Given the description of an element on the screen output the (x, y) to click on. 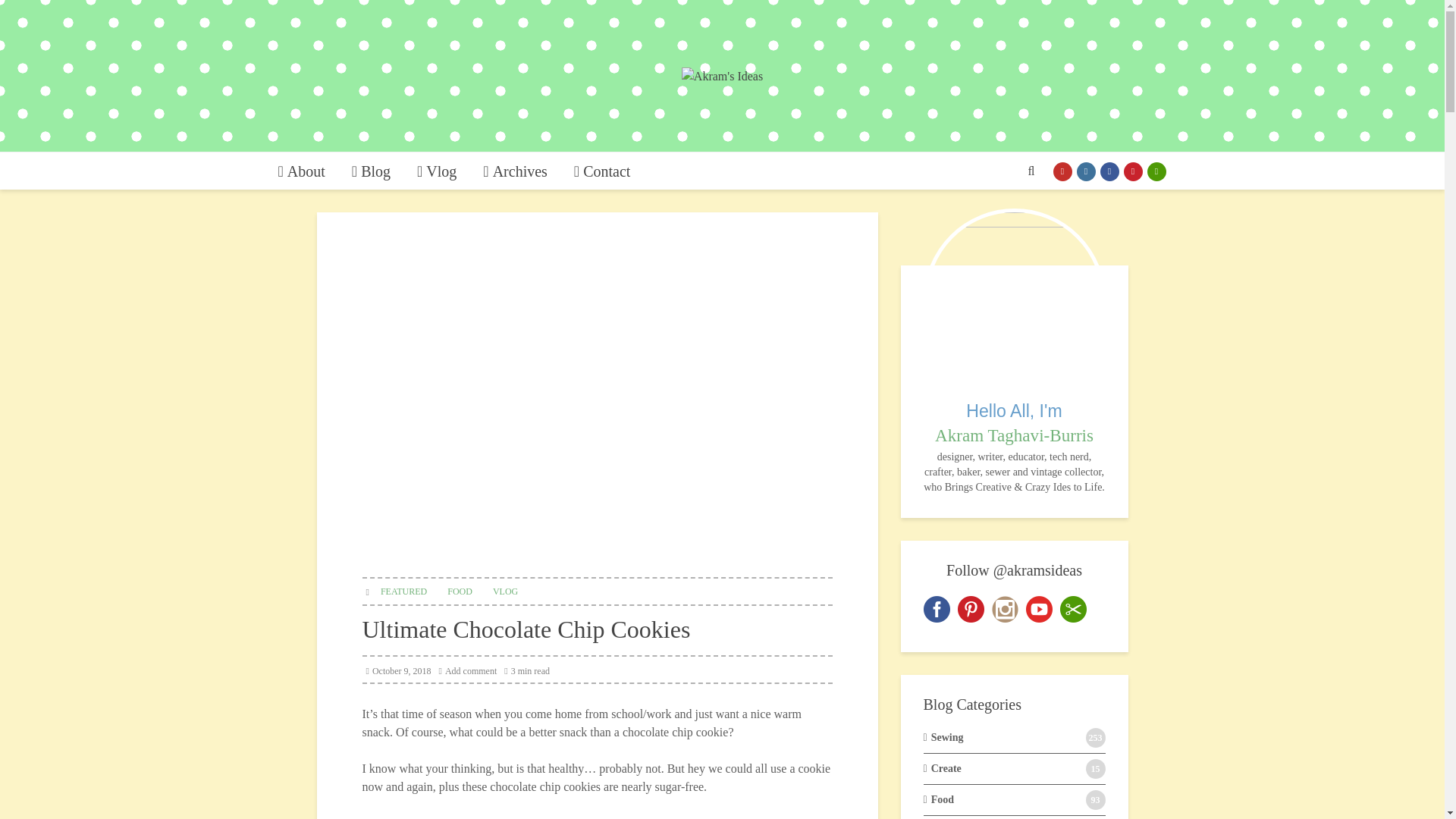
FEATURED (403, 590)
Vlog (436, 171)
Add comment (468, 670)
FOOD (459, 590)
Contact (602, 171)
VLOG (504, 590)
About (301, 171)
Archives (515, 171)
Blog (370, 171)
